Given the description of an element on the screen output the (x, y) to click on. 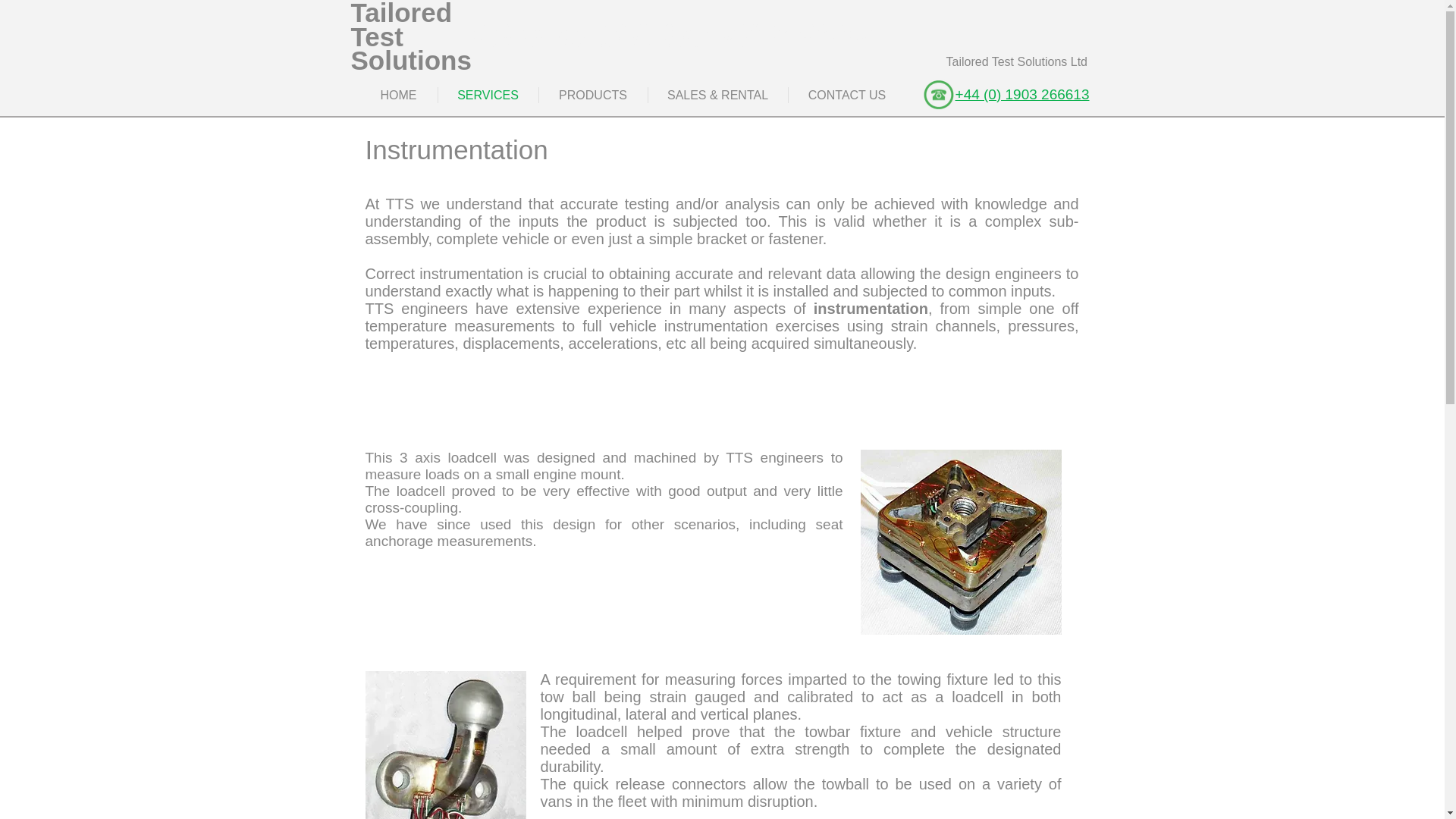
Tailored (400, 13)
PRODUCTS (592, 94)
CONTACT US (847, 94)
HOME (397, 94)
SERVICES (488, 94)
